Given the description of an element on the screen output the (x, y) to click on. 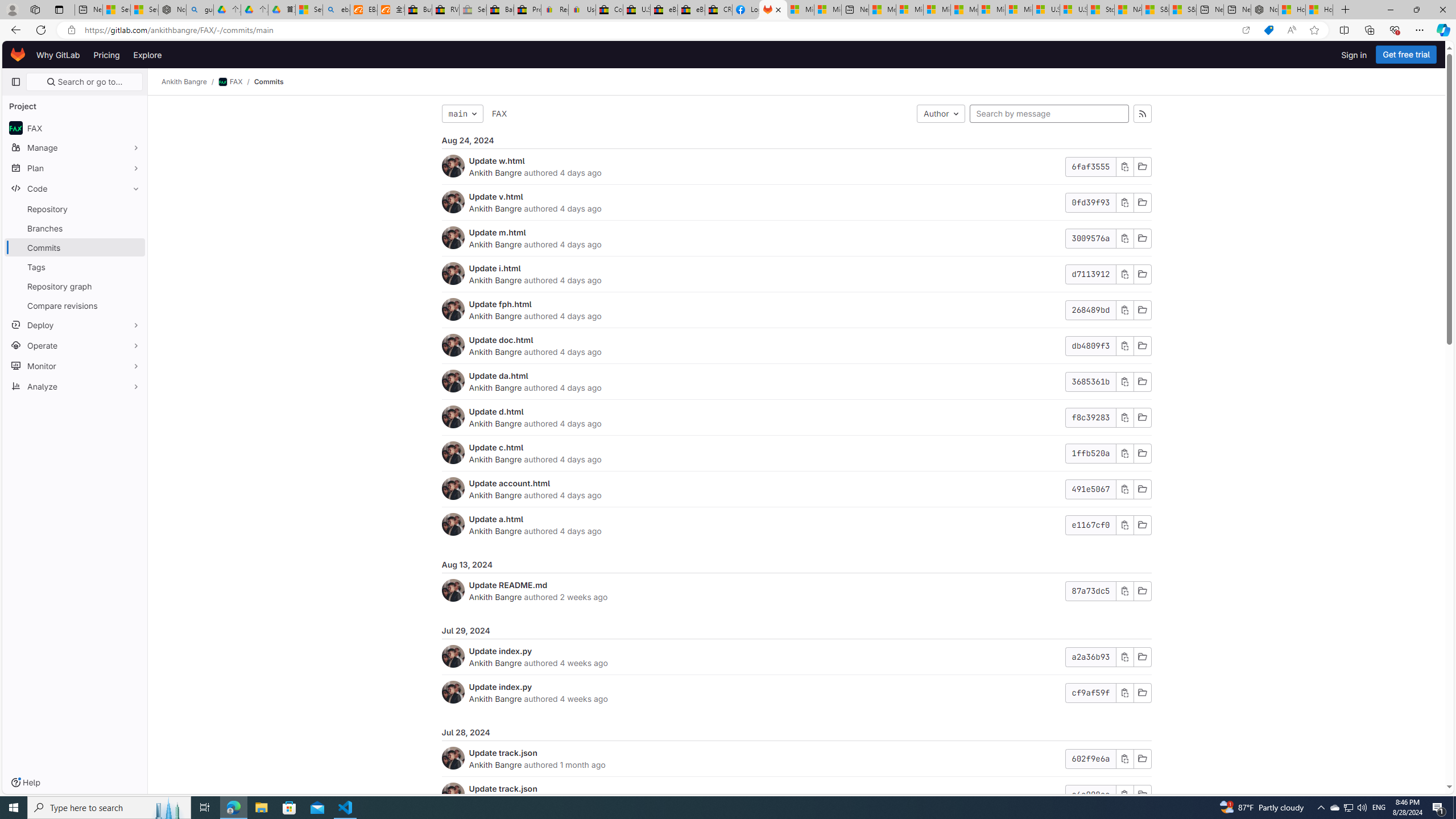
Update da.html (498, 375)
Update fph.html (499, 303)
Monitor (74, 365)
Update README.mdAnkith Bangre authored 2 weeks ago87a73dc5 (796, 590)
Update track.json (502, 788)
Update d.htmlAnkith Bangre authored 4 days agof8c39283 (796, 417)
Pricing (106, 54)
